Given the description of an element on the screen output the (x, y) to click on. 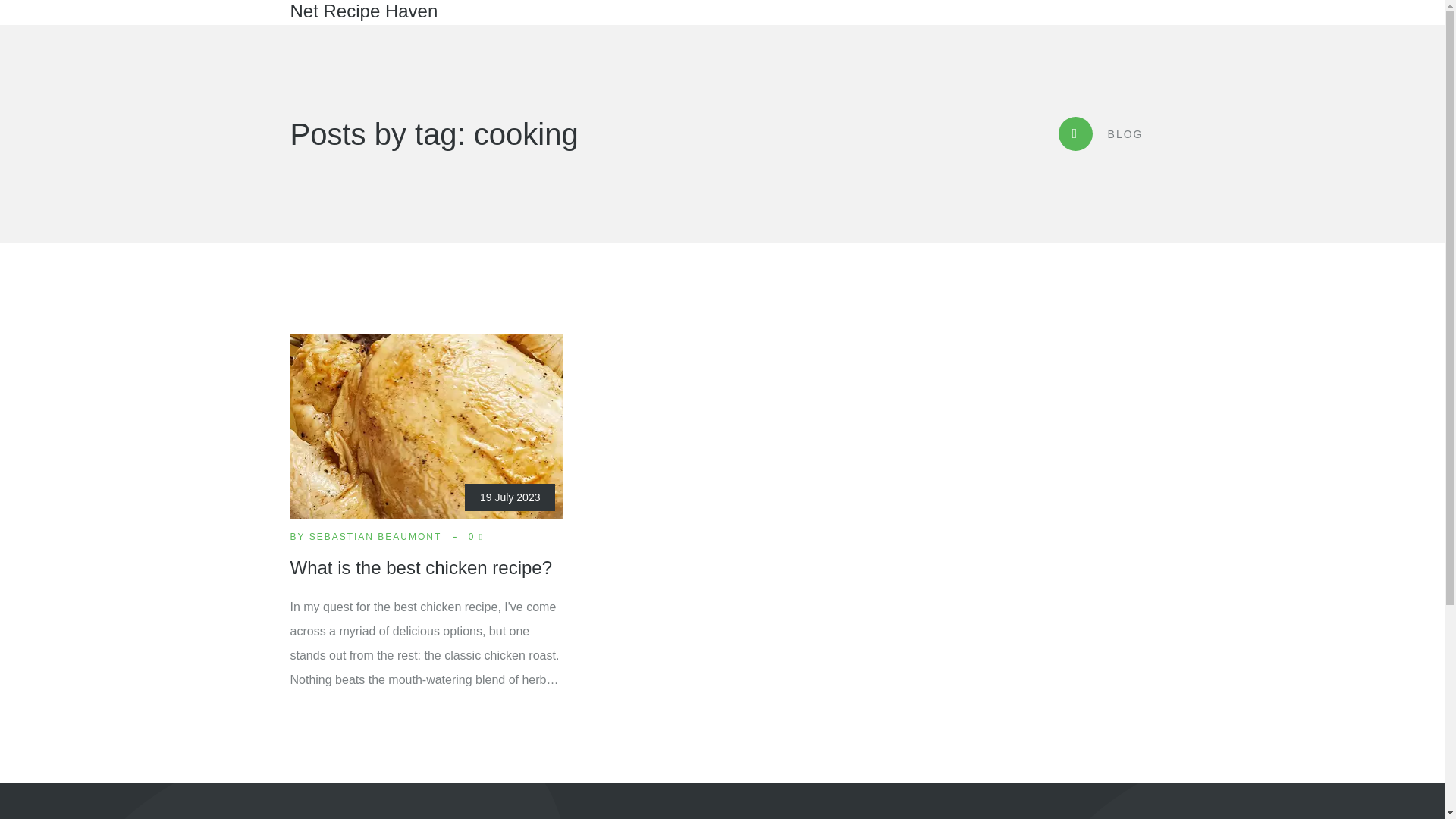
SEBASTIAN BEAUMONT (375, 535)
What is the best chicken recipe? (420, 567)
Net Recipe Haven (363, 11)
